Given the description of an element on the screen output the (x, y) to click on. 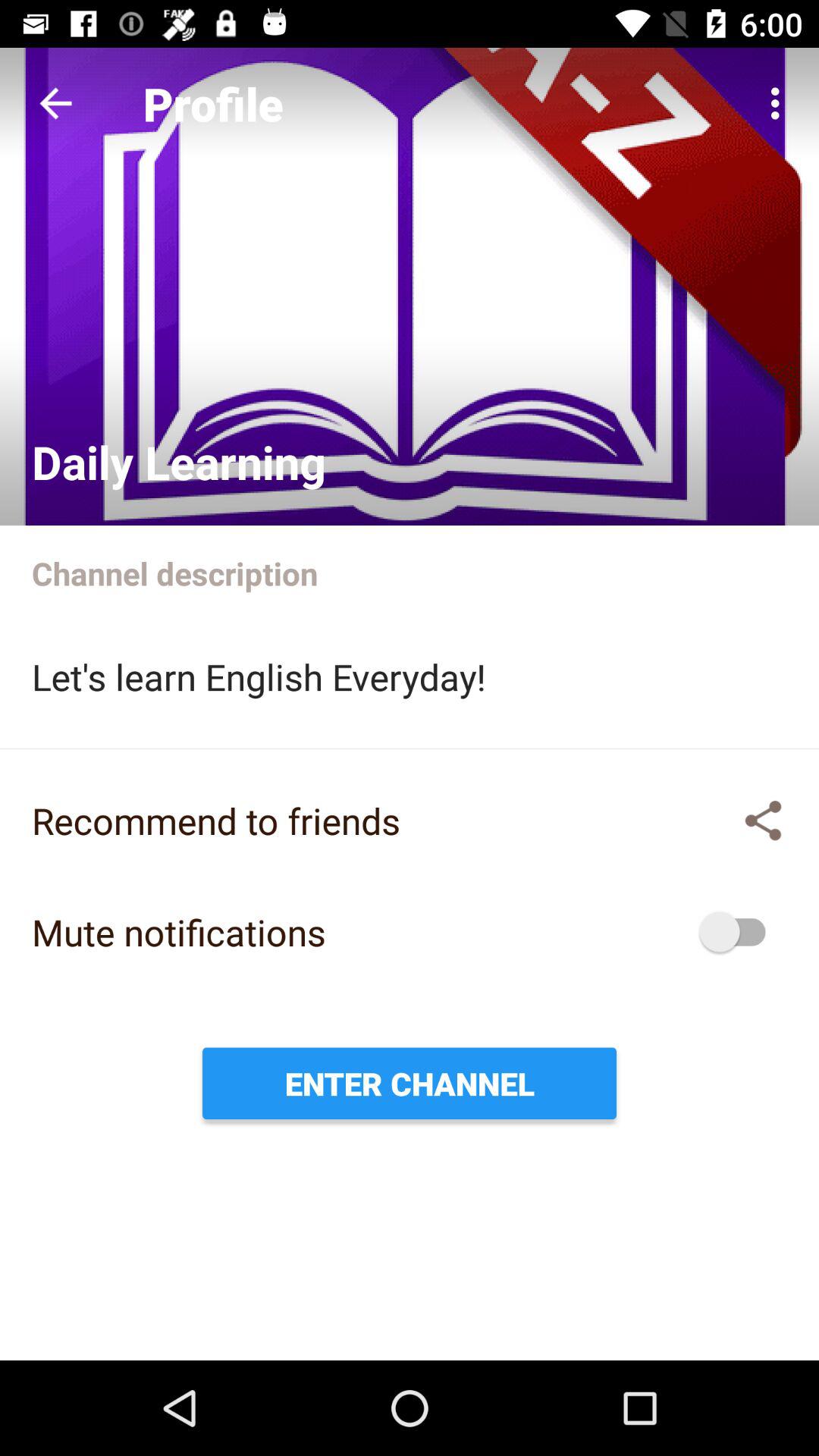
open icon next to the profile item (779, 103)
